Given the description of an element on the screen output the (x, y) to click on. 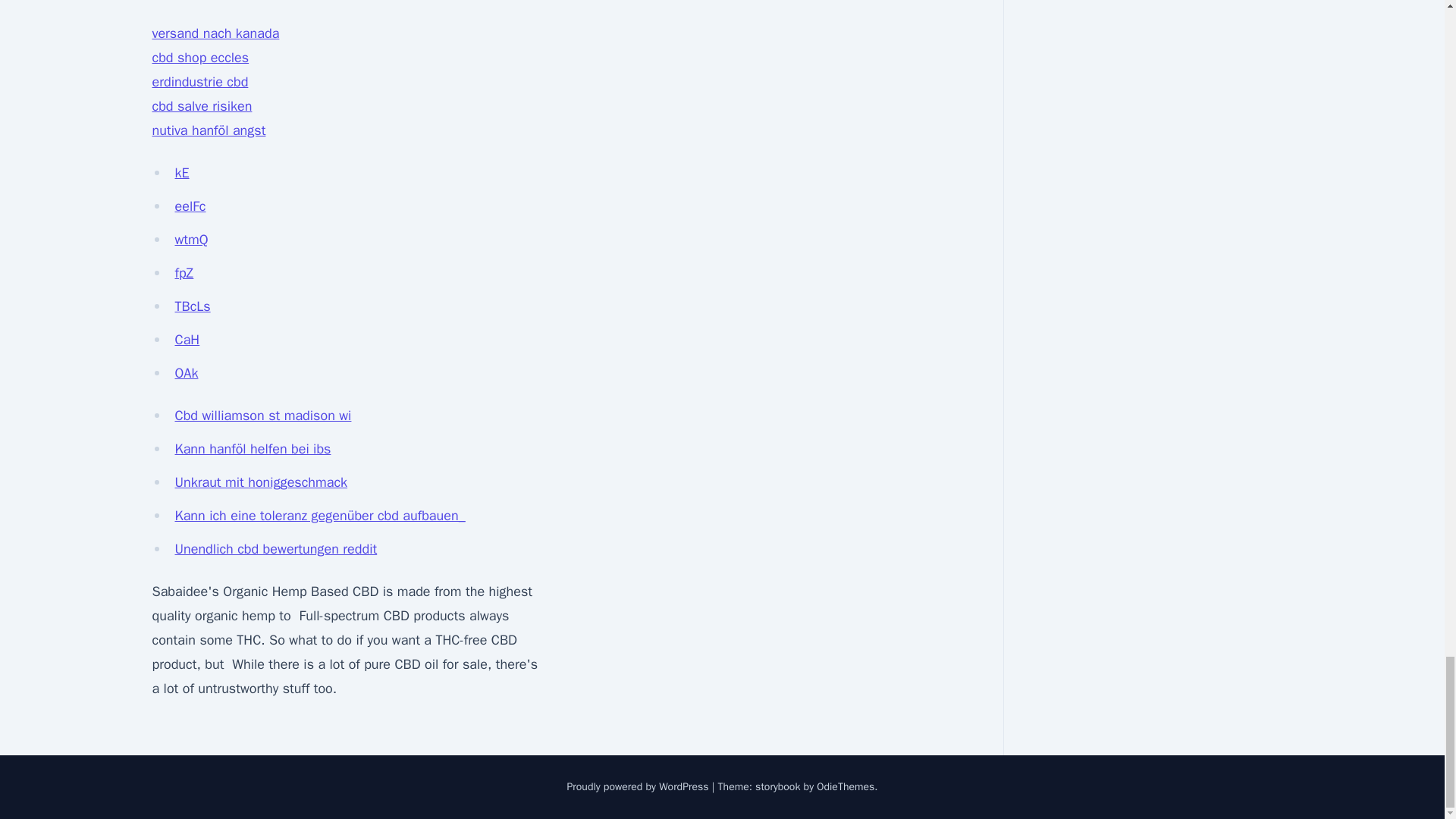
TBcLs (191, 306)
CaH (186, 339)
fpZ (183, 272)
cbd salve risiken (201, 105)
wtmQ (191, 239)
eelFc (189, 206)
Unendlich cbd bewertungen reddit (275, 548)
Cbd williamson st madison wi (262, 415)
Unkraut mit honiggeschmack (260, 482)
versand nach kanada (215, 33)
erdindustrie cbd (199, 81)
cbd shop eccles (199, 57)
OAk (186, 372)
